Given the description of an element on the screen output the (x, y) to click on. 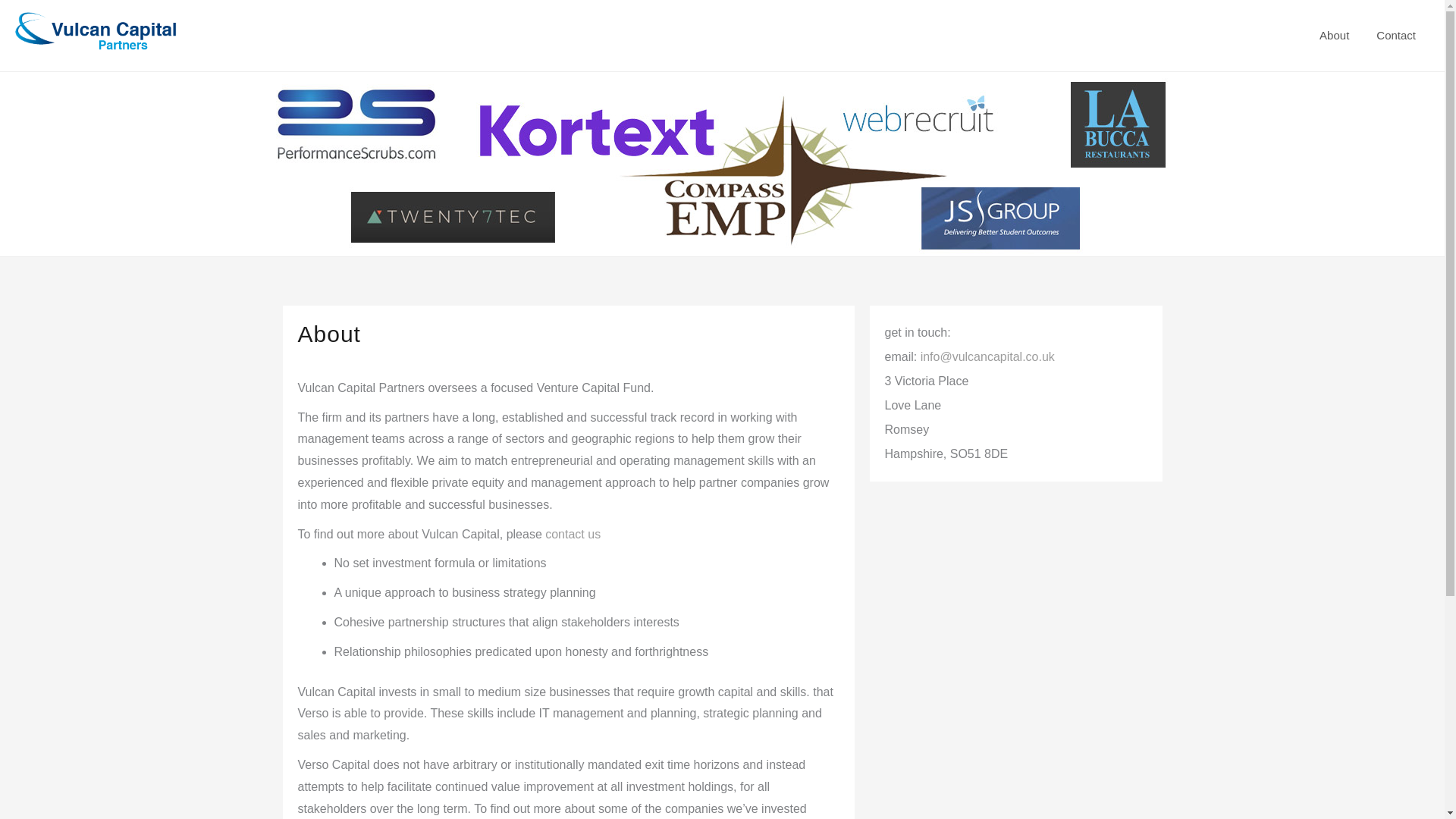
About (1334, 35)
Contact (1395, 35)
contact us (571, 533)
